Given the description of an element on the screen output the (x, y) to click on. 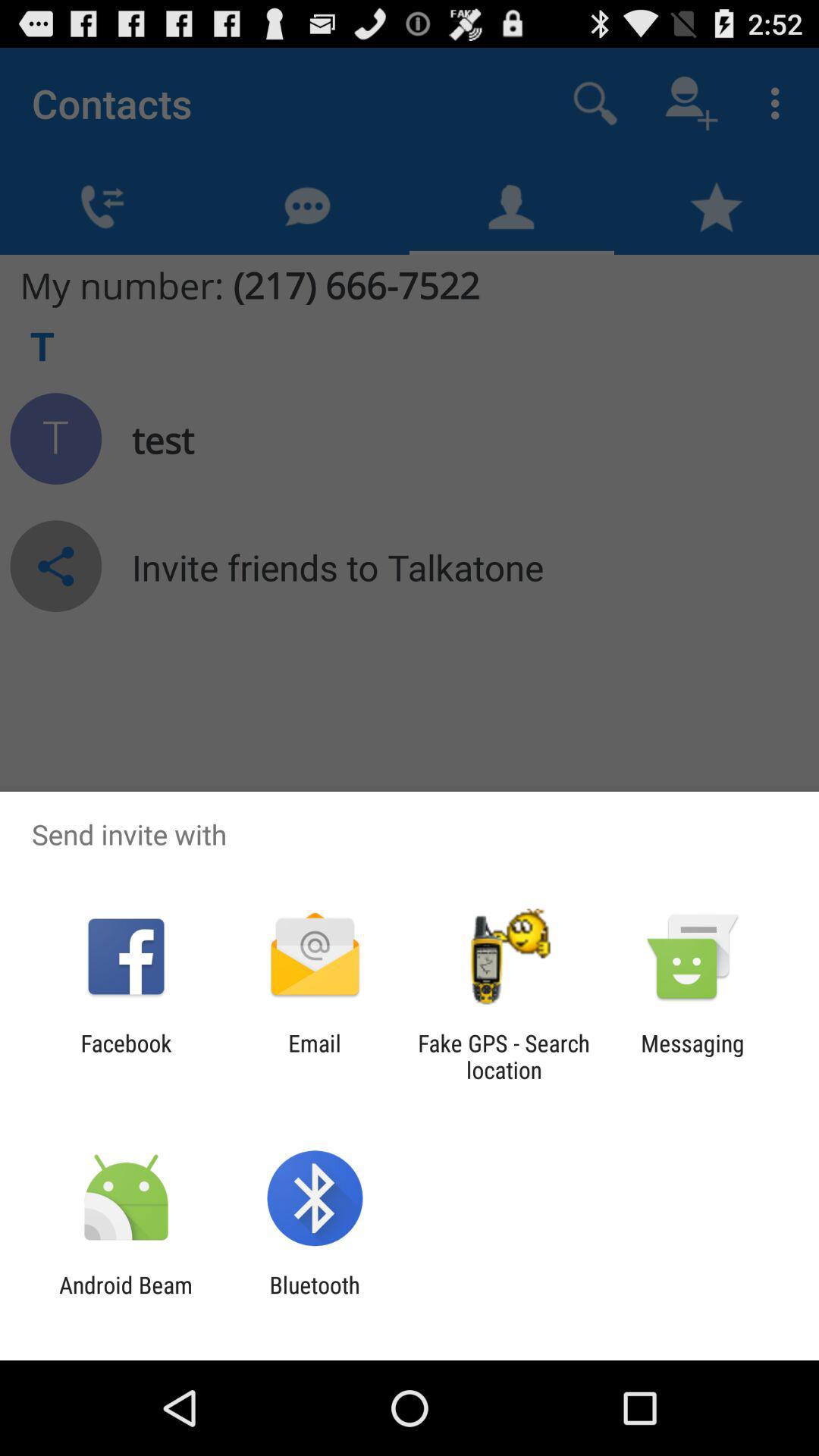
tap app to the left of bluetooth (125, 1298)
